Given the description of an element on the screen output the (x, y) to click on. 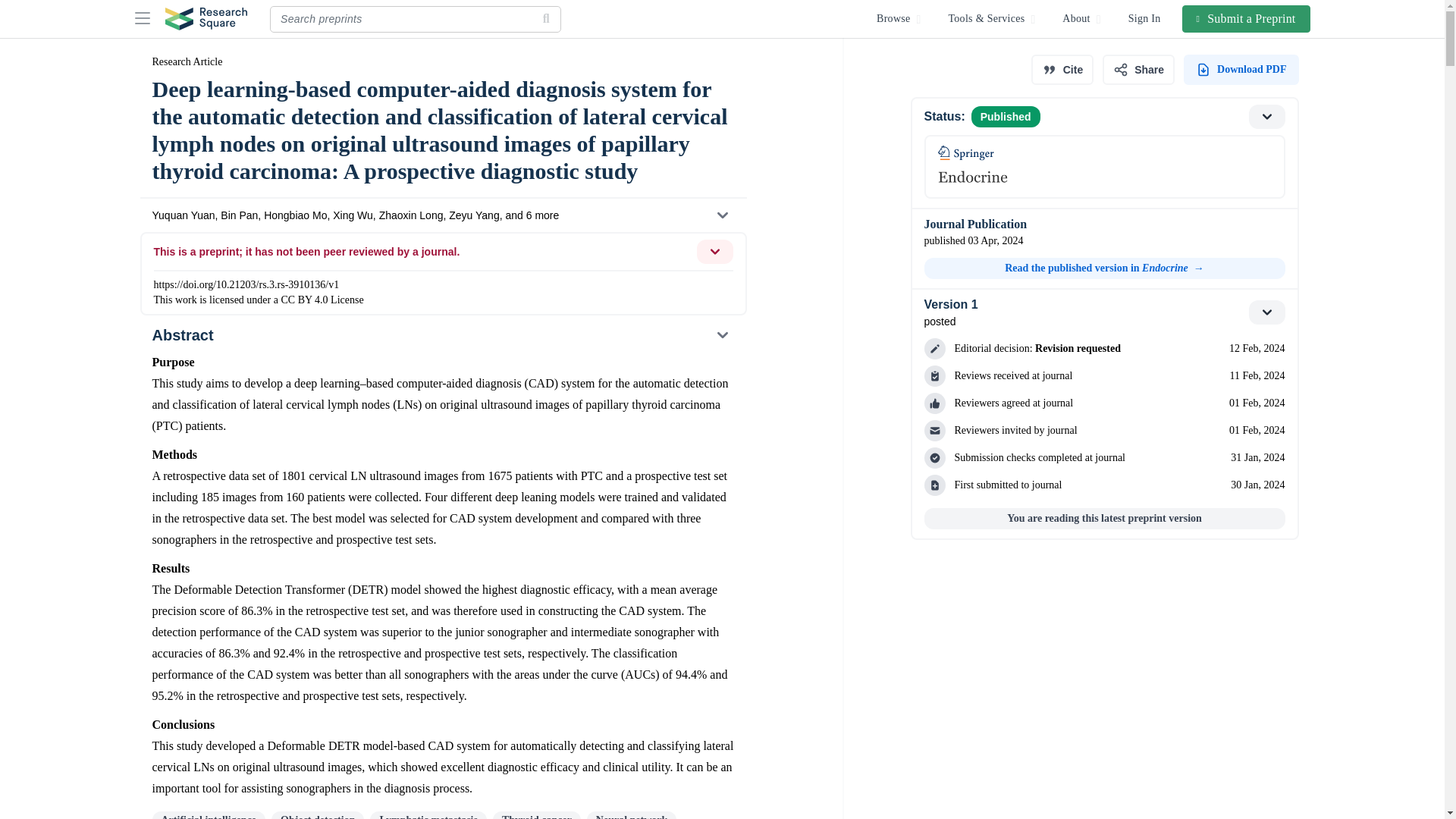
Sign In (1144, 18)
Abstract (442, 335)
Submit a Preprint (1246, 18)
